Given the description of an element on the screen output the (x, y) to click on. 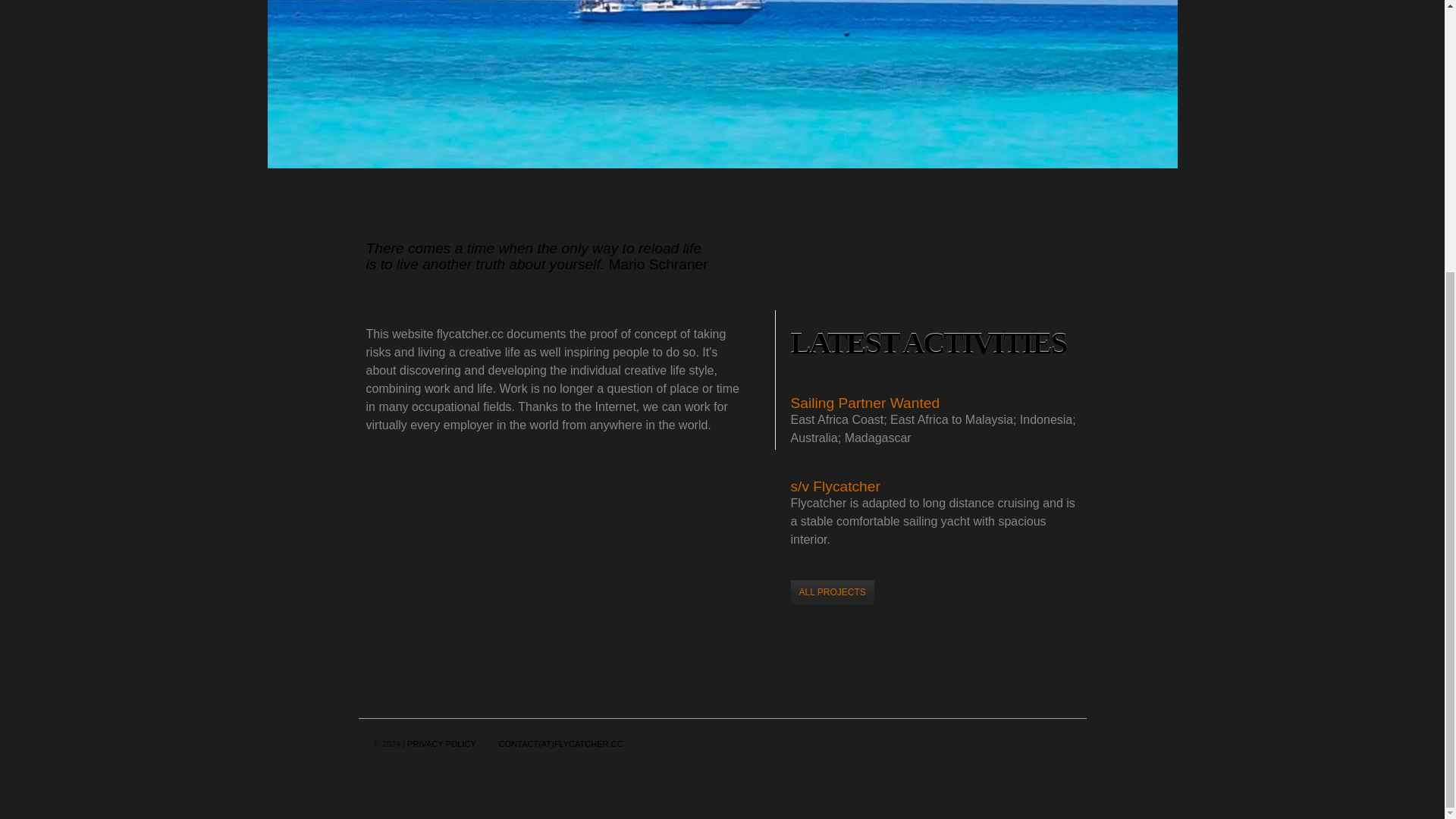
ALL PROJECTS (831, 591)
Sailing Partner Wanted (864, 402)
PRIVACY POLICY (441, 743)
